Given the description of an element on the screen output the (x, y) to click on. 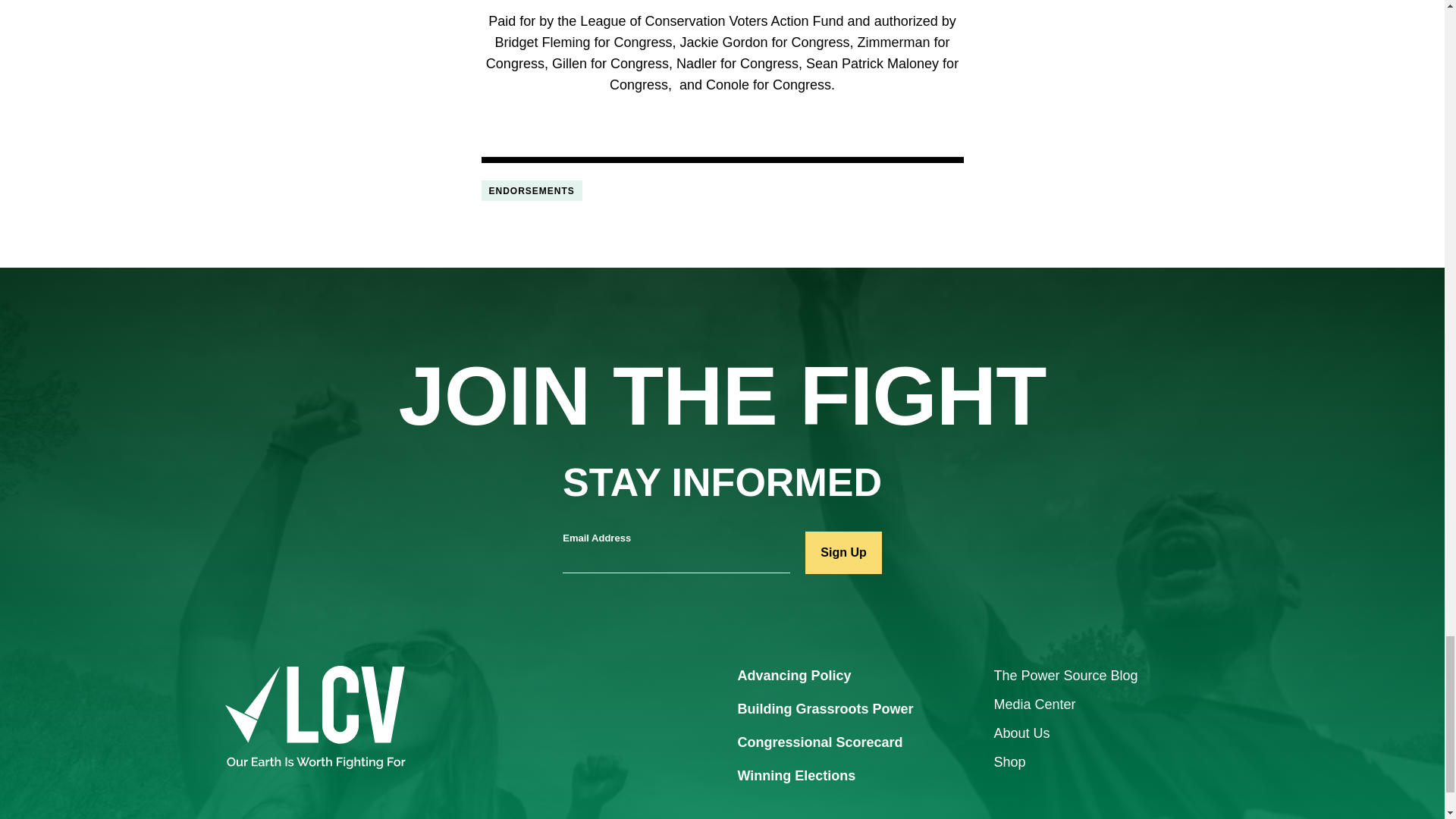
Congressional Scorecard (819, 743)
Winning Elections (796, 776)
Sign Up (842, 552)
Advancing Policy (793, 676)
Building Grassroots Power (824, 710)
ENDORSEMENTS (530, 190)
Sign Up (842, 552)
